Given the description of an element on the screen output the (x, y) to click on. 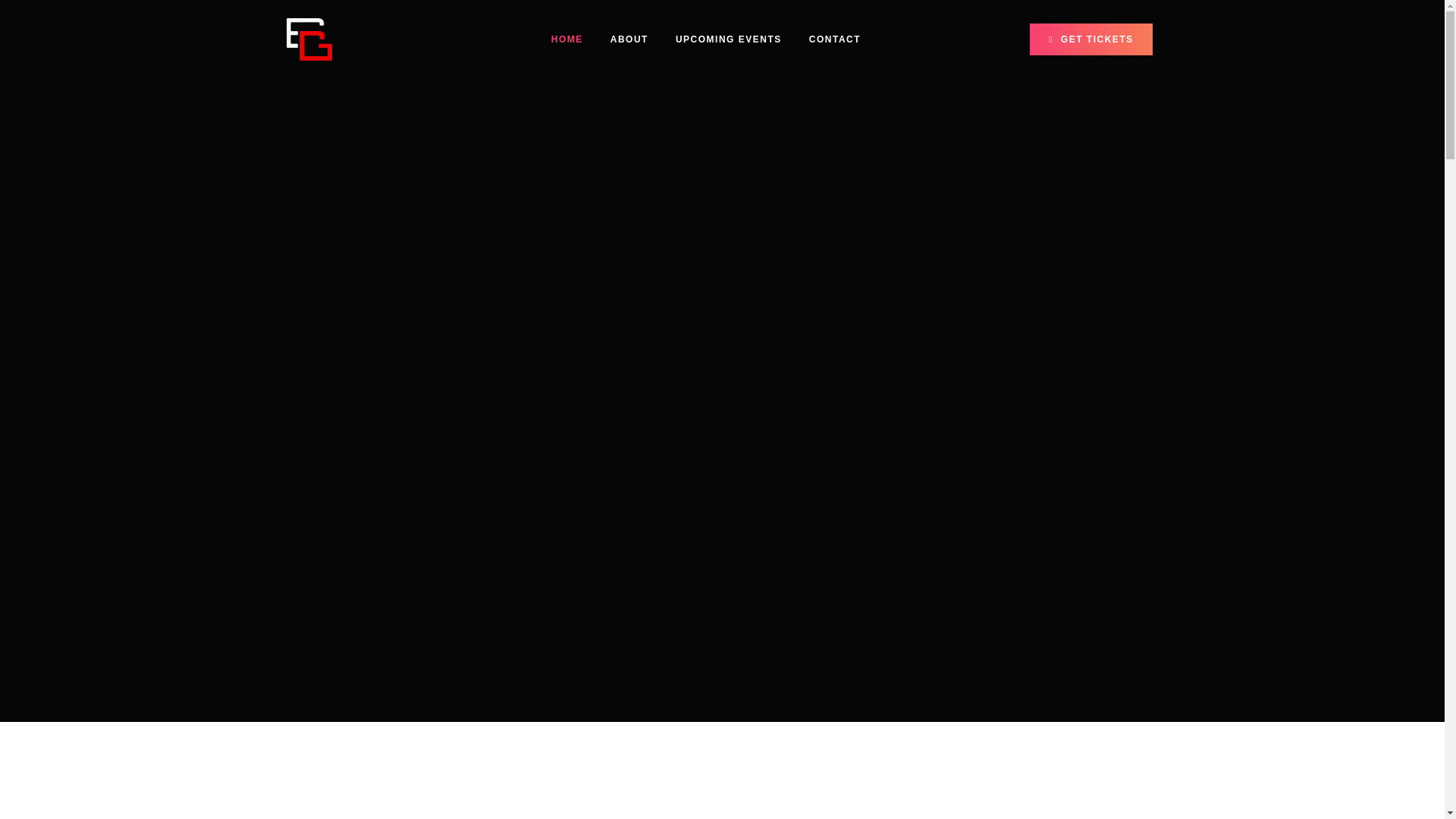
UPCOMING EVENTS (728, 39)
CONTACT (834, 39)
GET TICKETS (1091, 39)
